Given the description of an element on the screen output the (x, y) to click on. 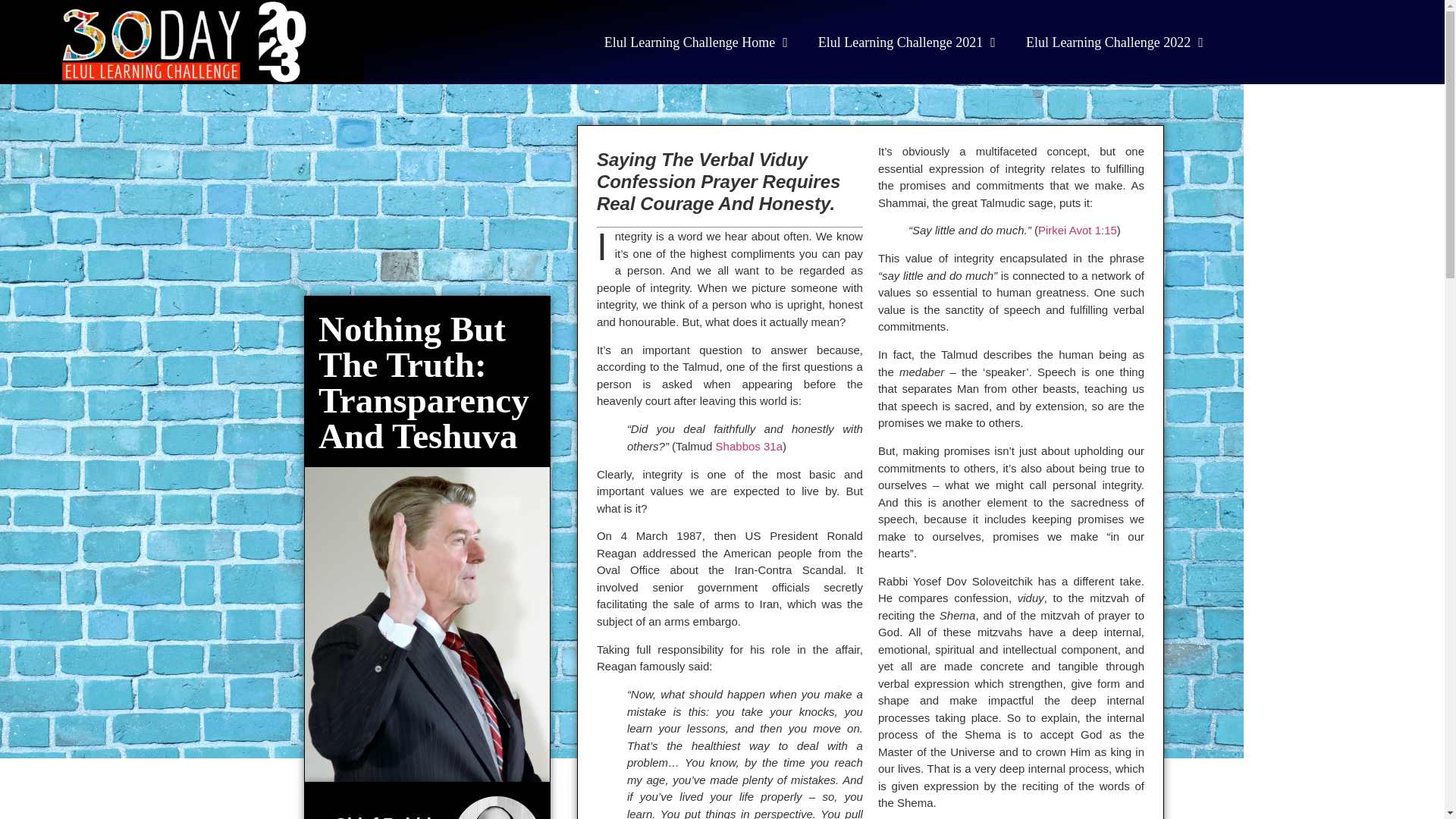
Elul Learning Challenge 2022 (1114, 41)
Elul Learning Challenge 2021 (906, 41)
Elul Learning Challenge Home (696, 41)
